Given the description of an element on the screen output the (x, y) to click on. 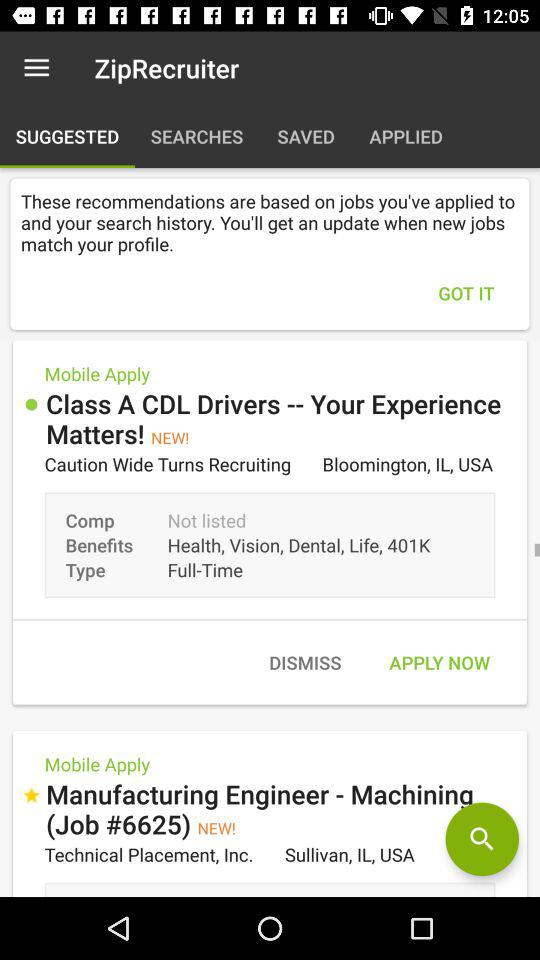
launch the item next to dismiss icon (439, 662)
